Given the description of an element on the screen output the (x, y) to click on. 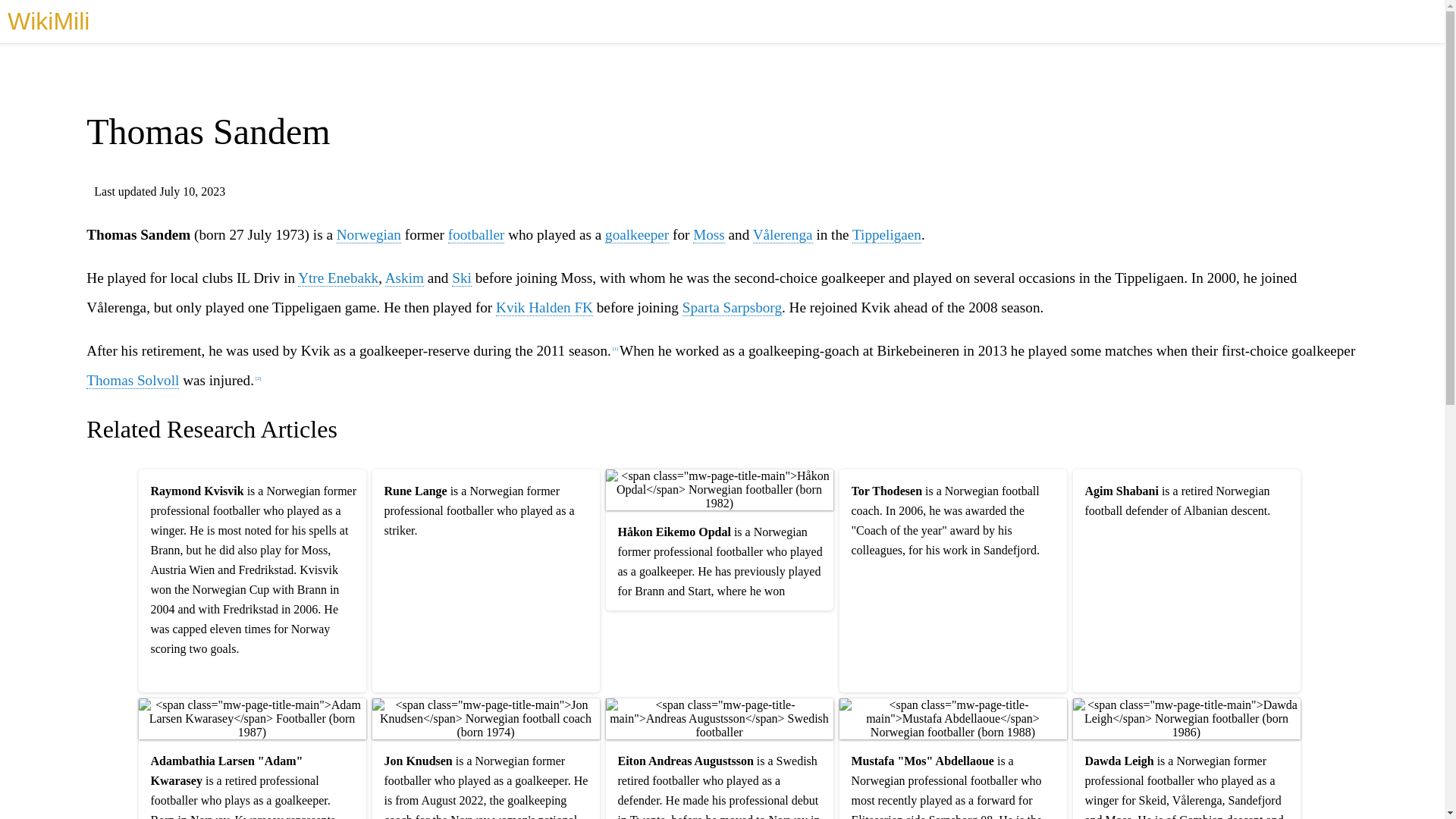
Moss (709, 234)
Association football (476, 234)
Thomas Solvoll (132, 380)
goalkeeper (636, 234)
IL Driv (257, 277)
footballer (476, 234)
Norway (368, 234)
FK Sparta Sarpsborg (731, 307)
WikiMili (47, 21)
Norwegian (368, 234)
Tippeligaen (886, 234)
Kvik Halden FK (544, 307)
Moss FK (709, 234)
Kvik Halden FK (544, 307)
Sparta Sarpsborg (731, 307)
